Given the description of an element on the screen output the (x, y) to click on. 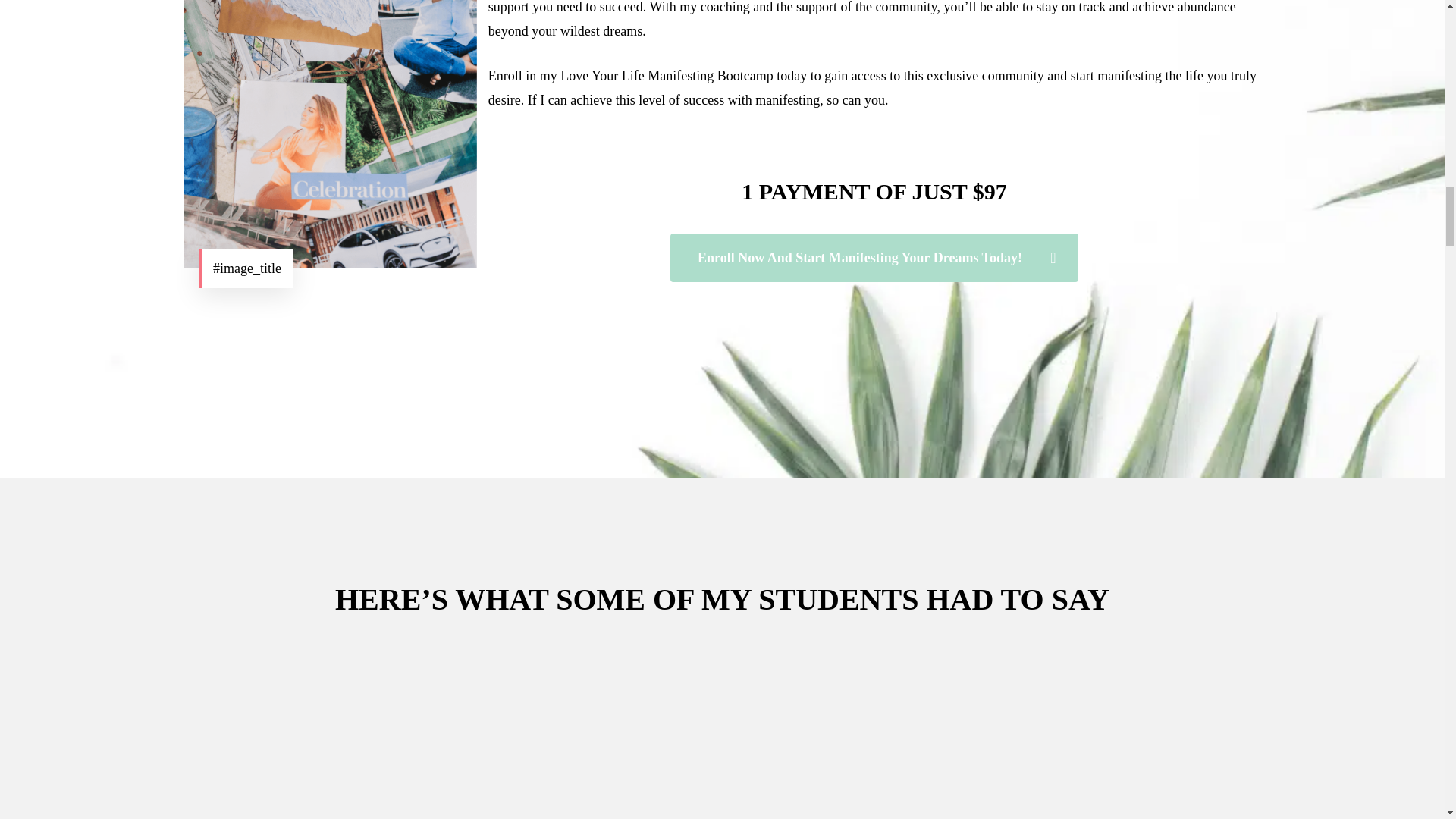
5 - Love Nash (330, 133)
